Given the description of an element on the screen output the (x, y) to click on. 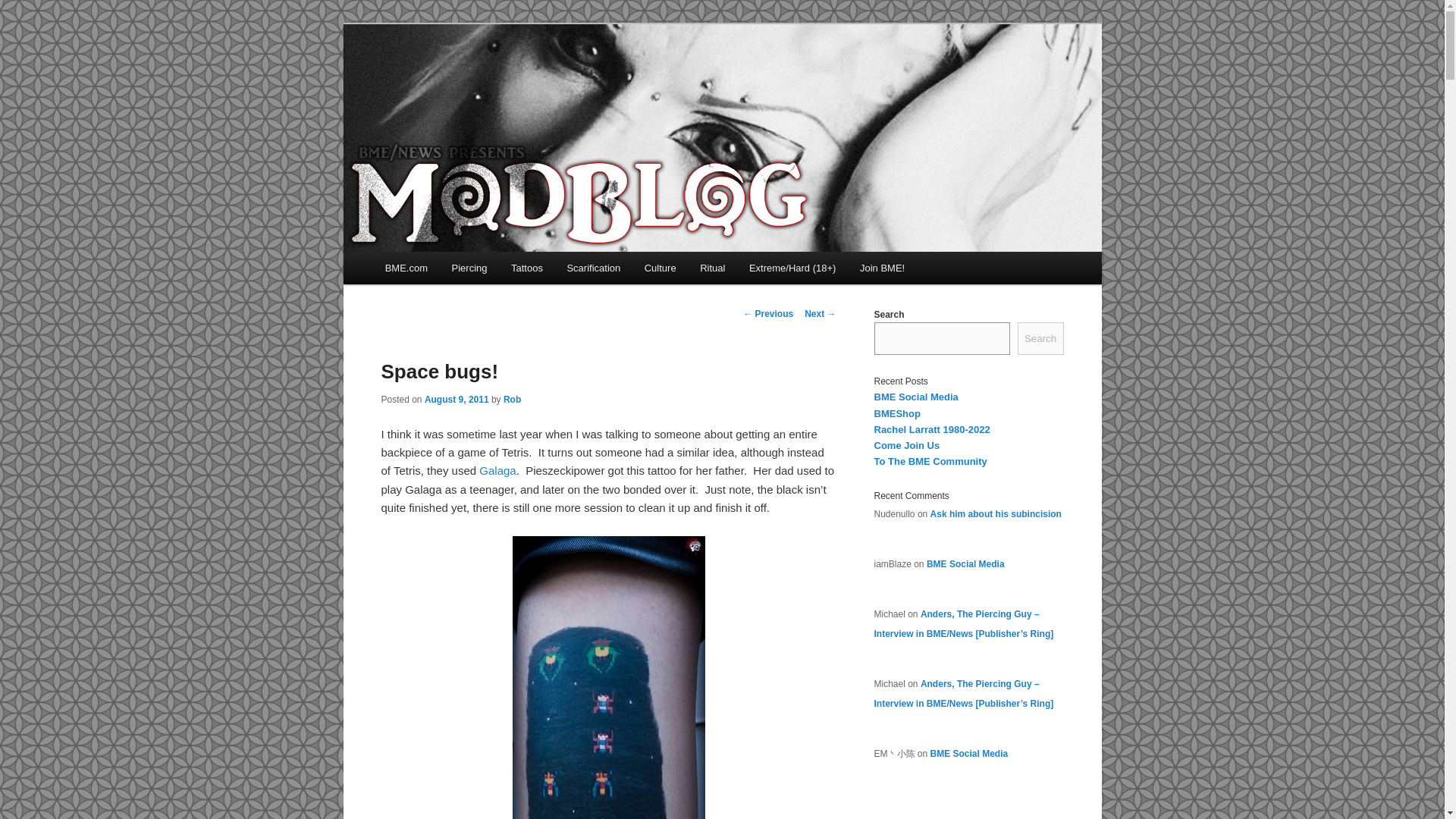
Browse Our Scarification Galleries (592, 267)
Tattoos (526, 267)
Ritual (711, 267)
BME.com (405, 267)
Join BME! (882, 267)
Browse Our Piercing Galleries (469, 267)
Join BME Now! (882, 267)
View all posts by Rob (512, 398)
Browse Our Ritual Galleries (711, 267)
Culture (659, 267)
